Given the description of an element on the screen output the (x, y) to click on. 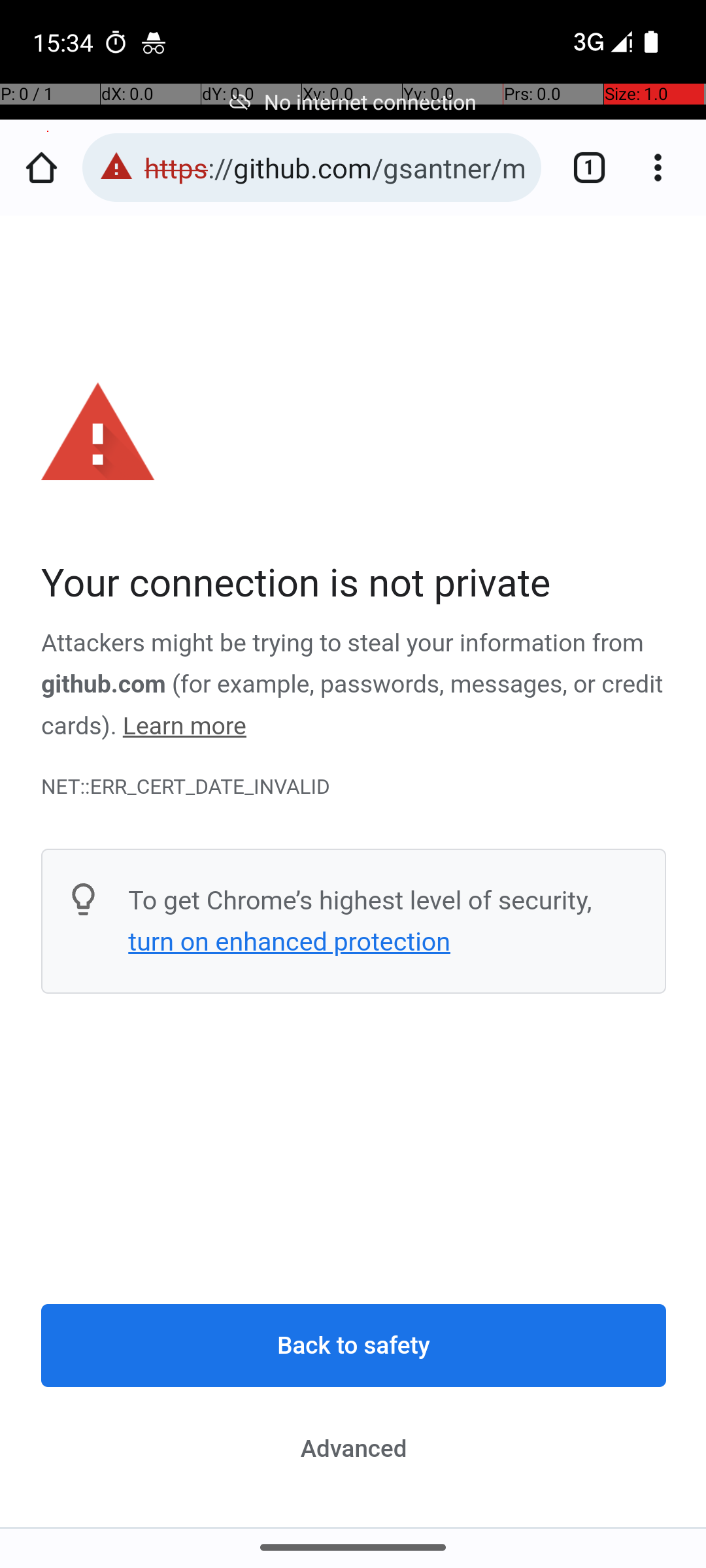
https://github.com/gsantner/markor/issues/new/choose Element type: android.widget.EditText (335, 167)
